Given the description of an element on the screen output the (x, y) to click on. 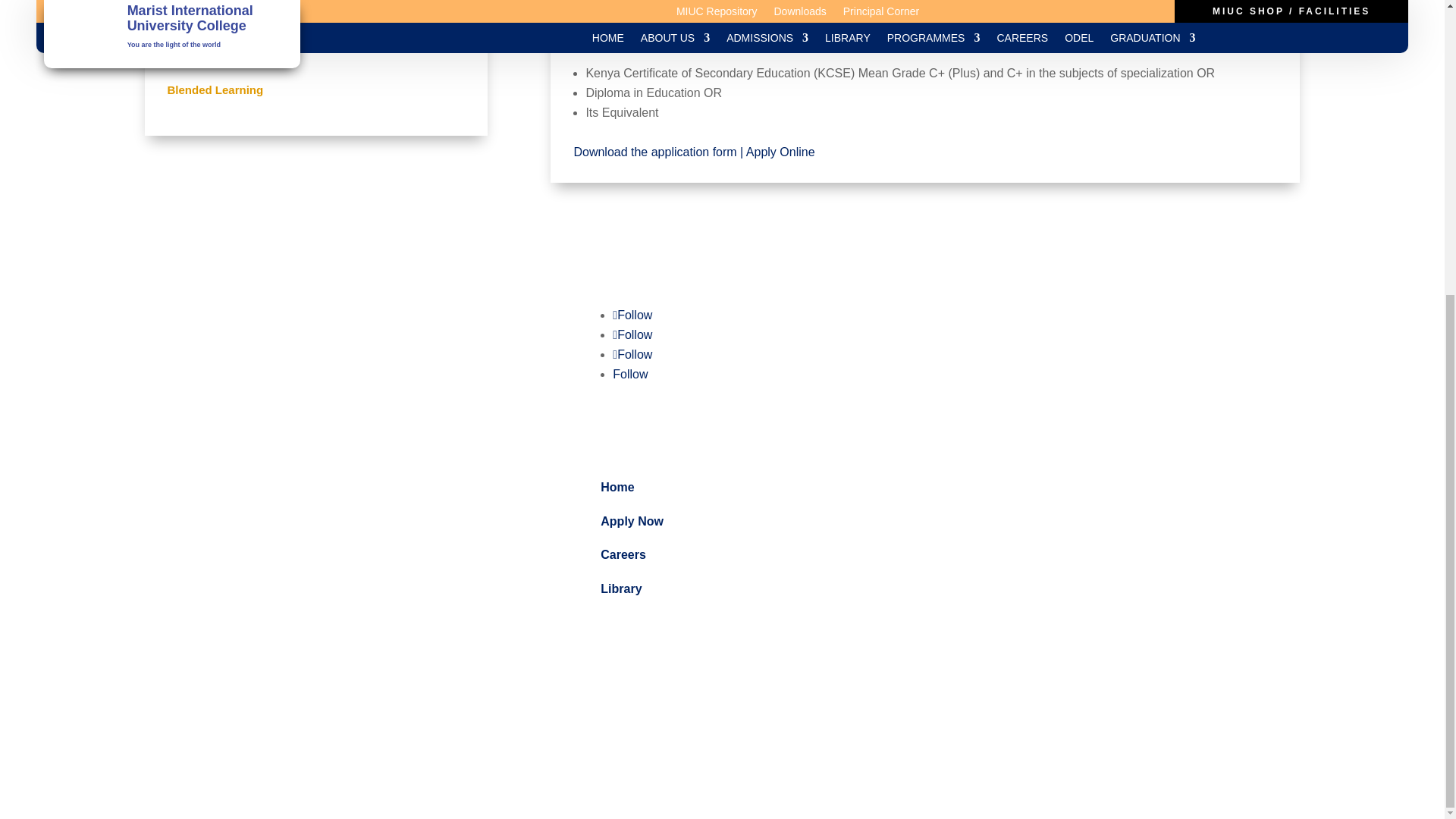
Follow on Facebook (632, 314)
Follow on Instagram (632, 354)
Follow on Twitter (632, 334)
Follow on Youtube (629, 373)
